Given the description of an element on the screen output the (x, y) to click on. 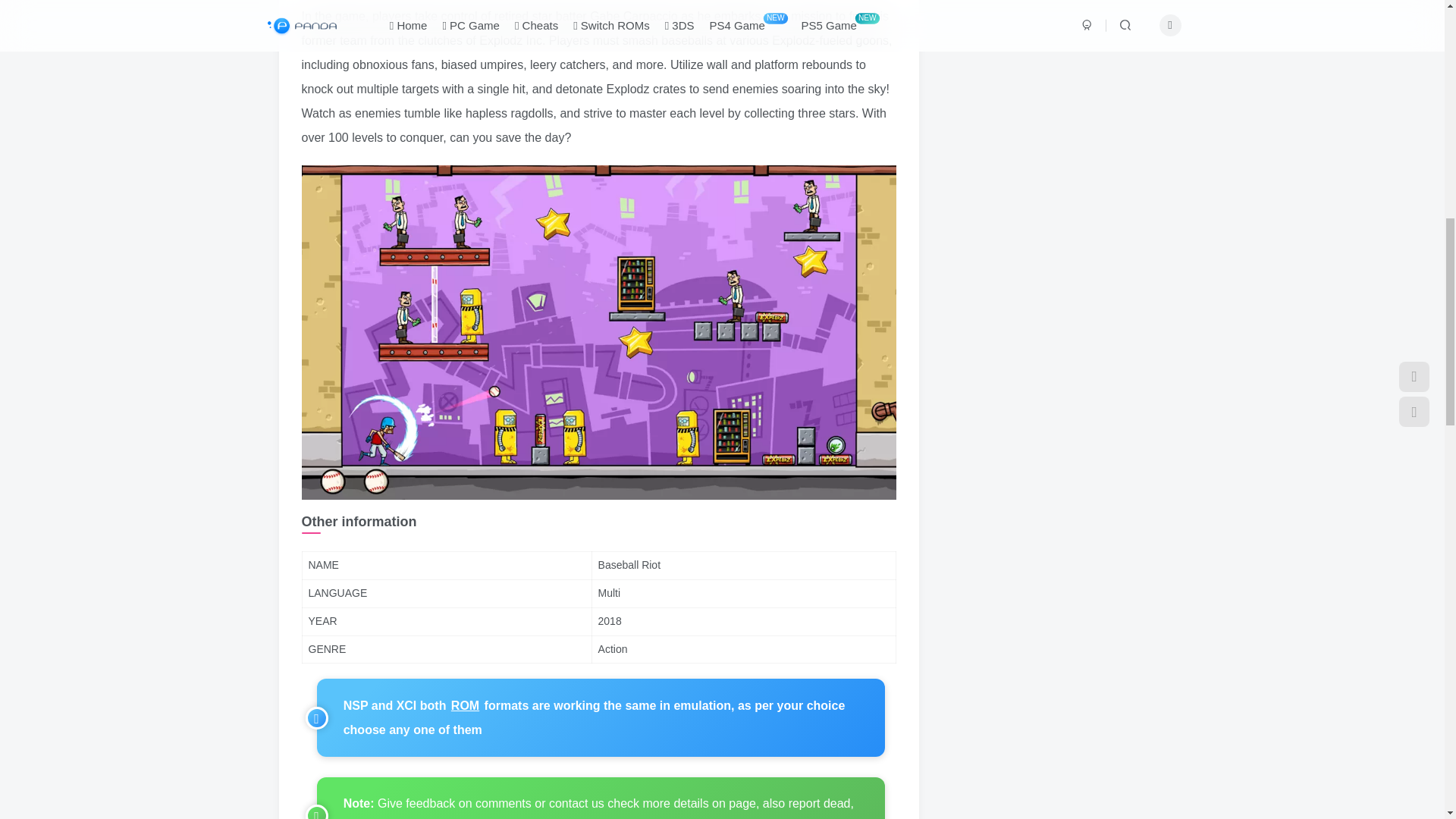
ROM (465, 705)
Advertisement (1048, 55)
